Given the description of an element on the screen output the (x, y) to click on. 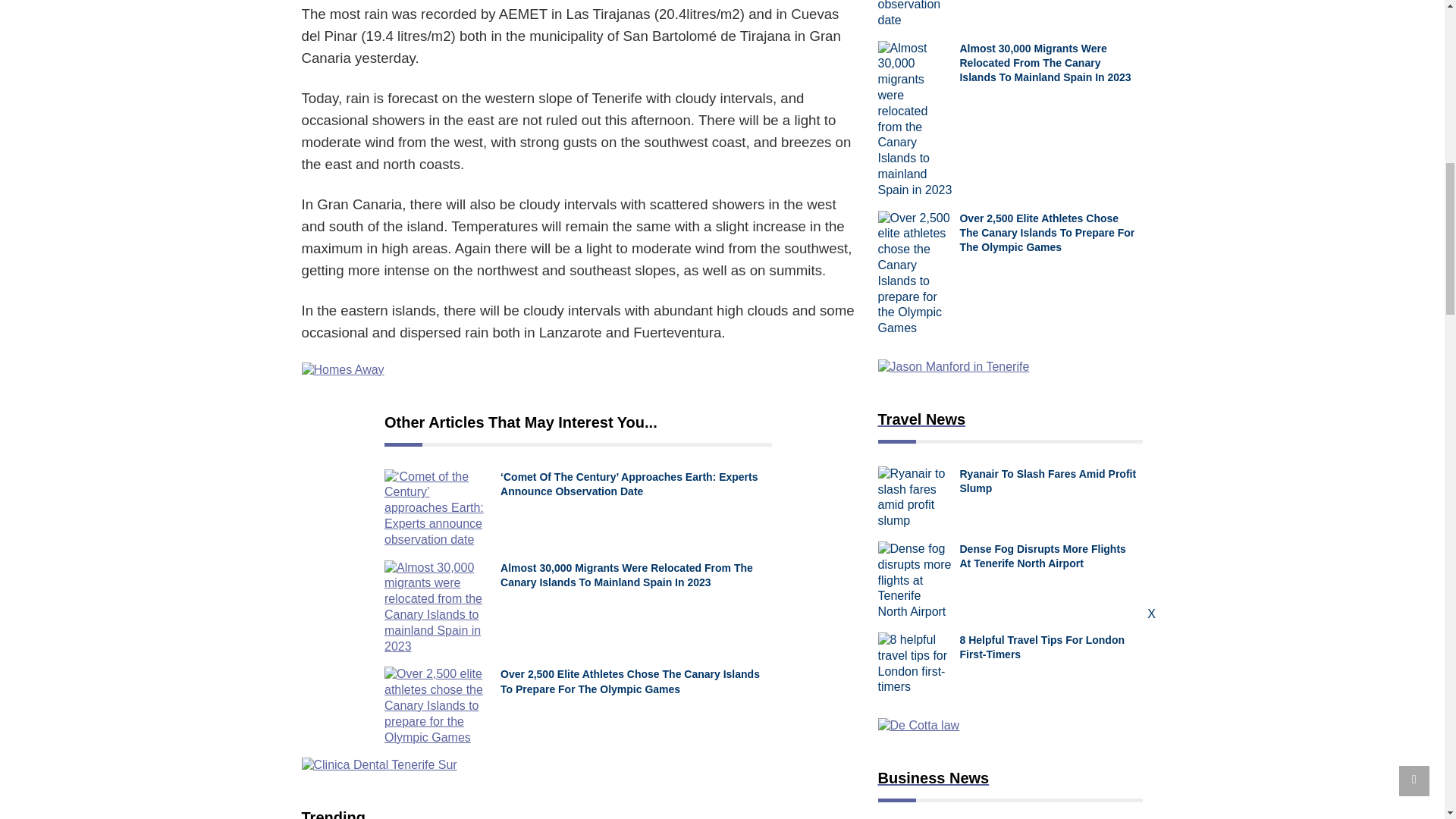
Homes Away (578, 370)
Clinica Dental Tenerife Sur (578, 765)
